Given the description of an element on the screen output the (x, y) to click on. 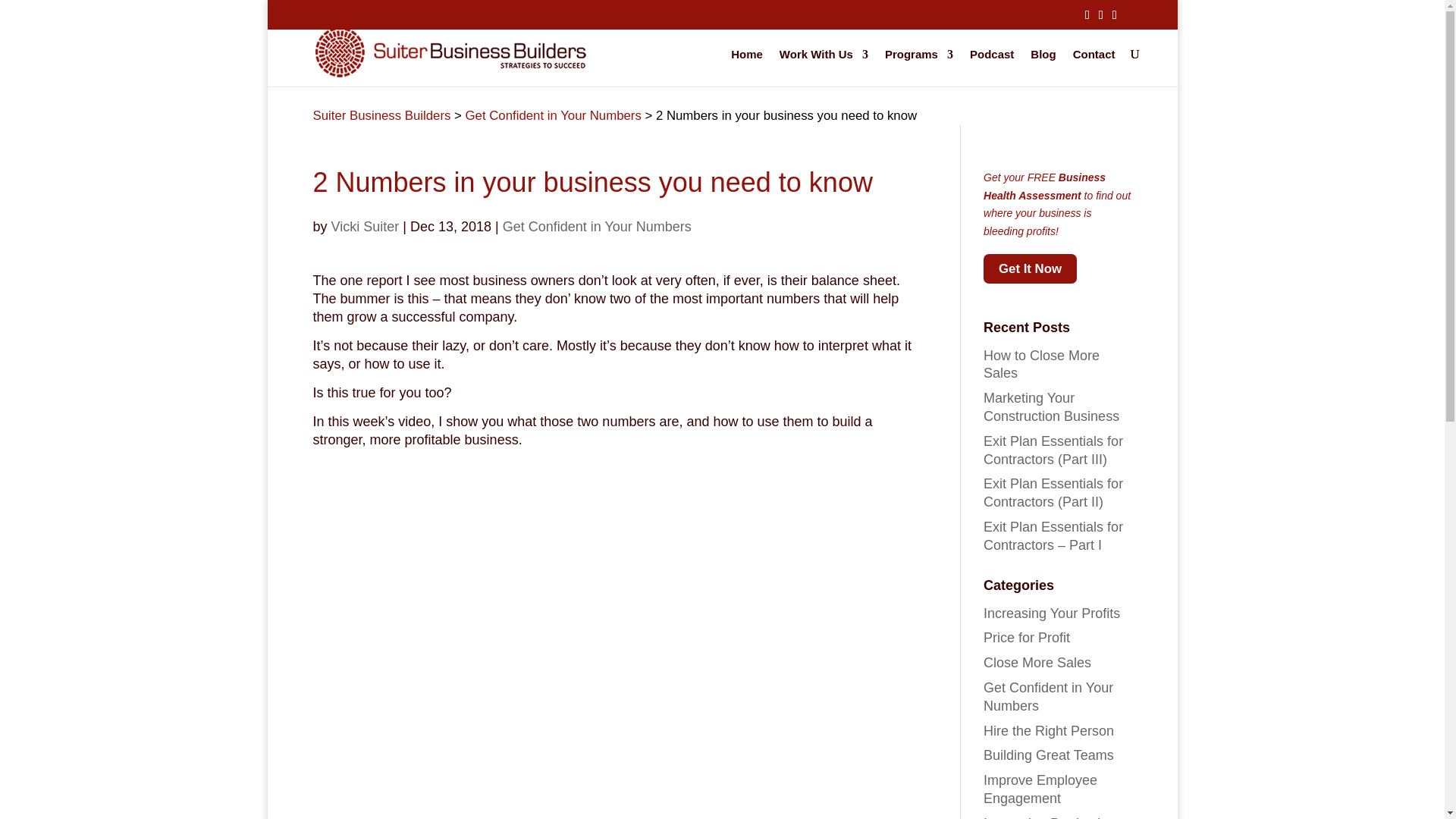
Go to Suiter Business Builders. (381, 115)
Increasing Your Profits (1051, 613)
Get It Now (1030, 268)
Get Confident in Your Numbers (596, 226)
Contact (1094, 66)
How to Close More Sales (1041, 364)
Marketing Your Construction Business (1051, 407)
Posts by Vicki Suiter (364, 226)
Price for Profit (1027, 637)
